Given the description of an element on the screen output the (x, y) to click on. 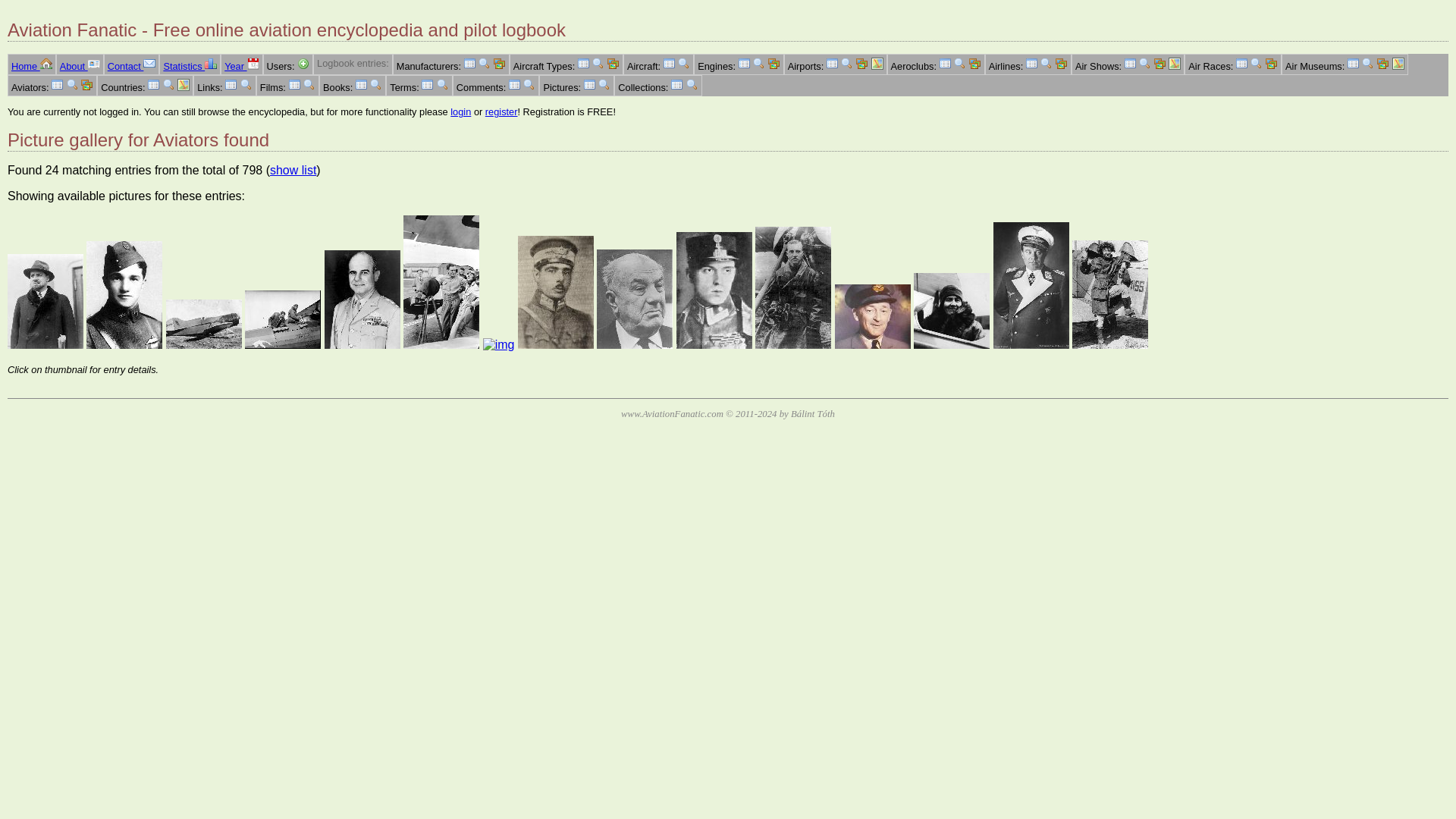
Year (241, 66)
Statistics (189, 66)
About (79, 66)
Contact (131, 66)
Home (31, 66)
